Given the description of an element on the screen output the (x, y) to click on. 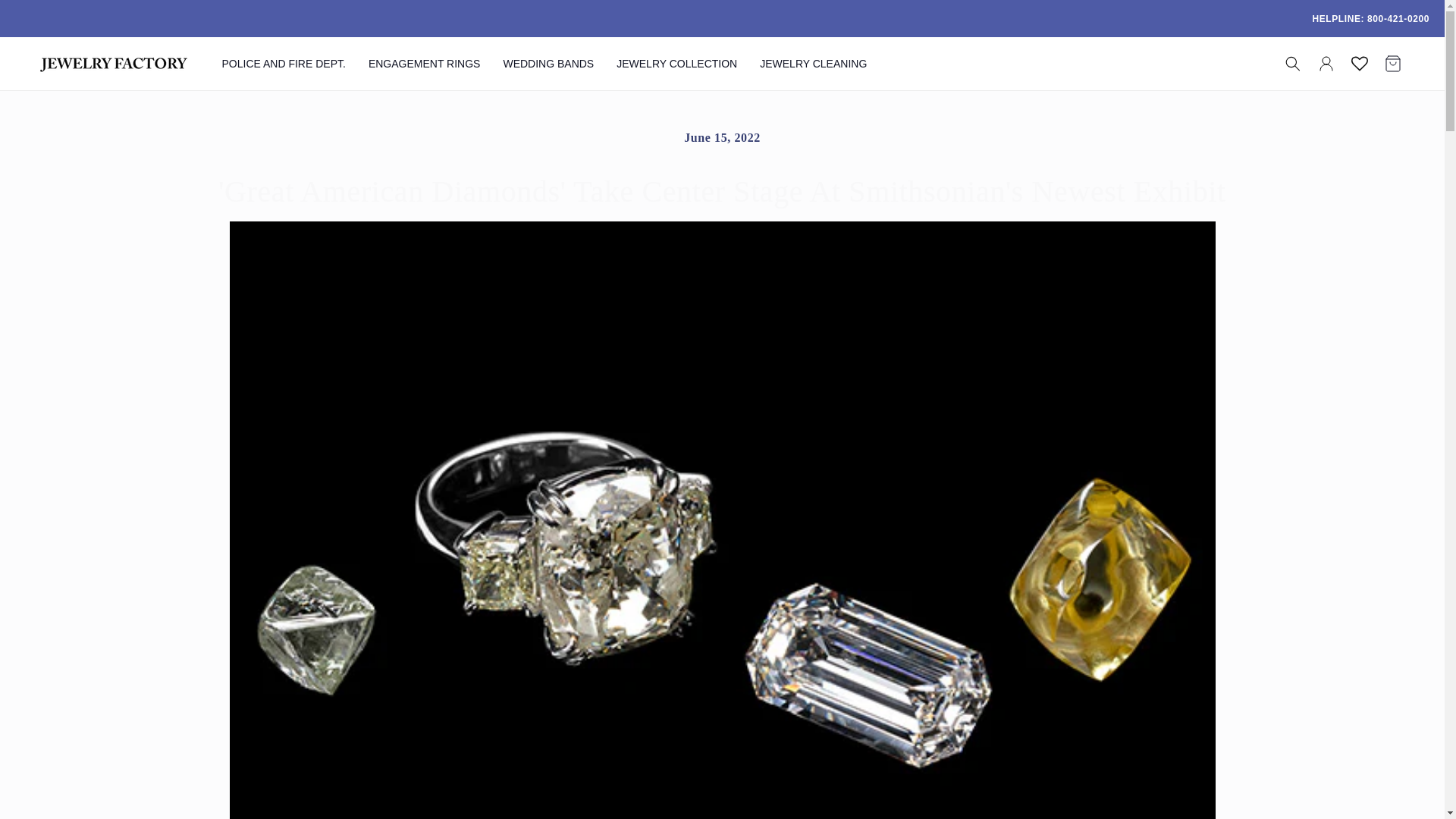
Skip to content (45, 17)
